Given the description of an element on the screen output the (x, y) to click on. 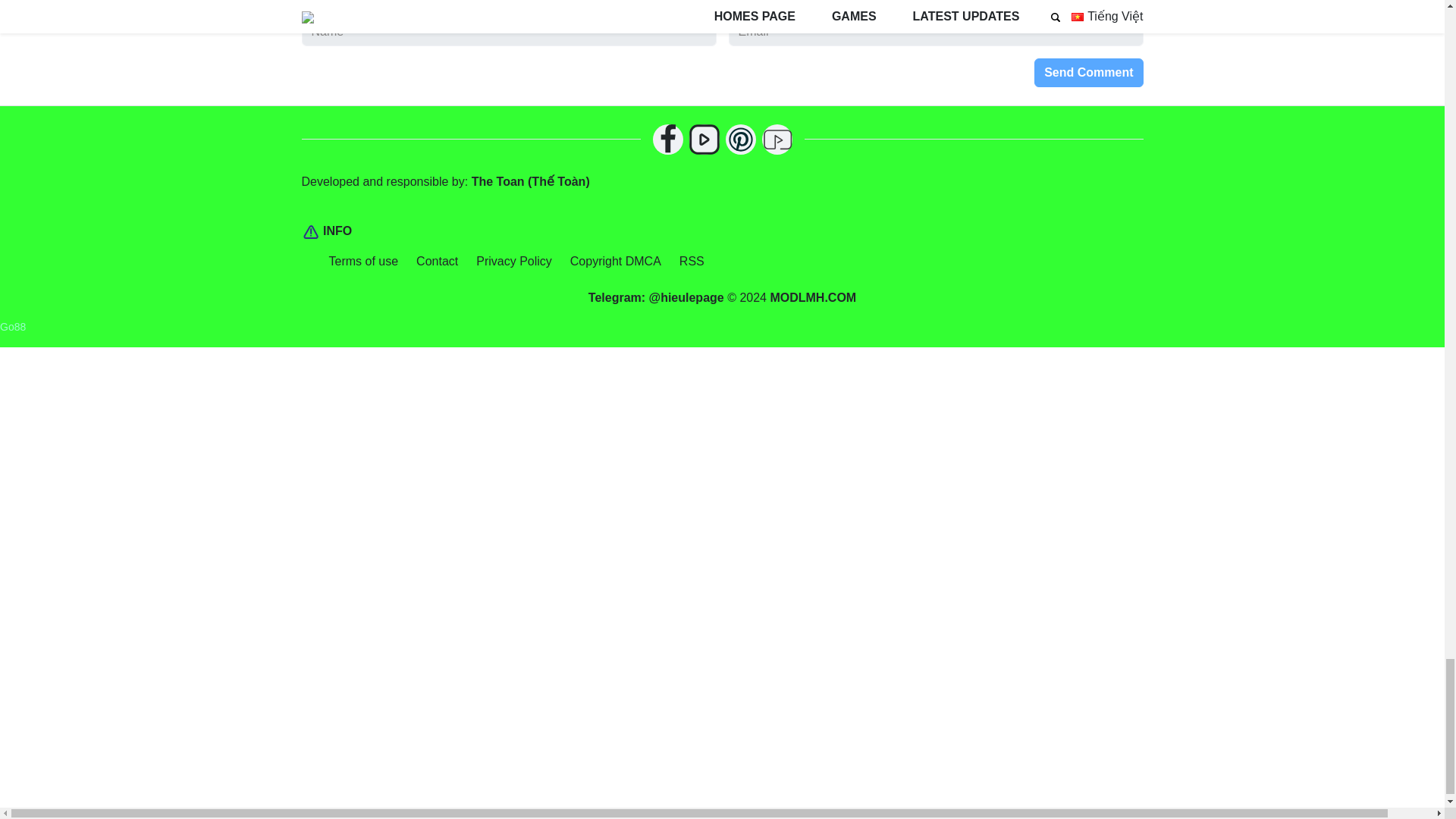
Contact (437, 260)
Copyright DMCA (615, 260)
Privacy Policy (513, 260)
MODLMH.COM (813, 297)
Terms of use (363, 260)
RSS (691, 260)
Send Comment (1087, 72)
